Given the description of an element on the screen output the (x, y) to click on. 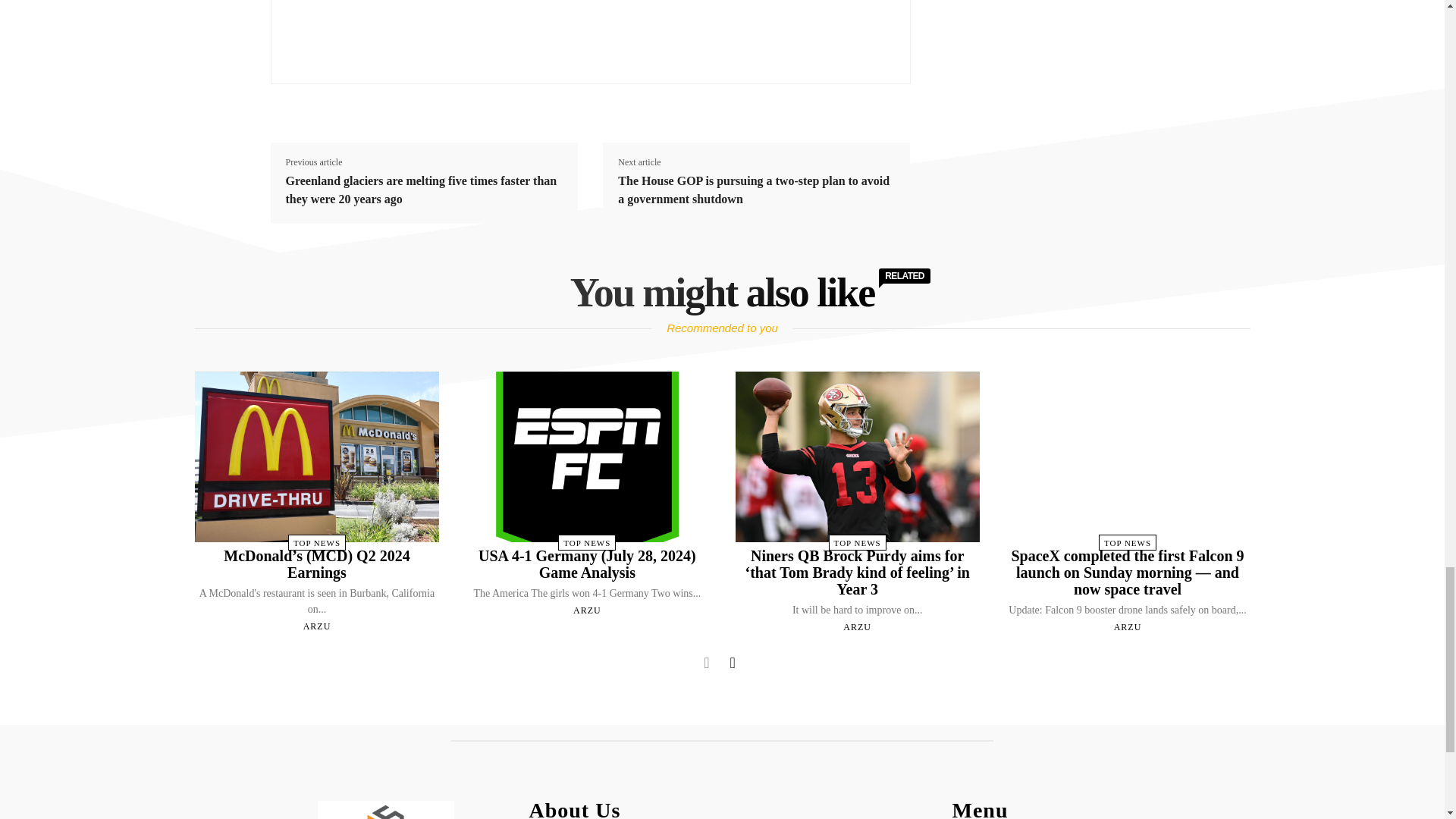
TOP NEWS (586, 542)
ARZU (316, 625)
TOP NEWS (317, 542)
